Given the description of an element on the screen output the (x, y) to click on. 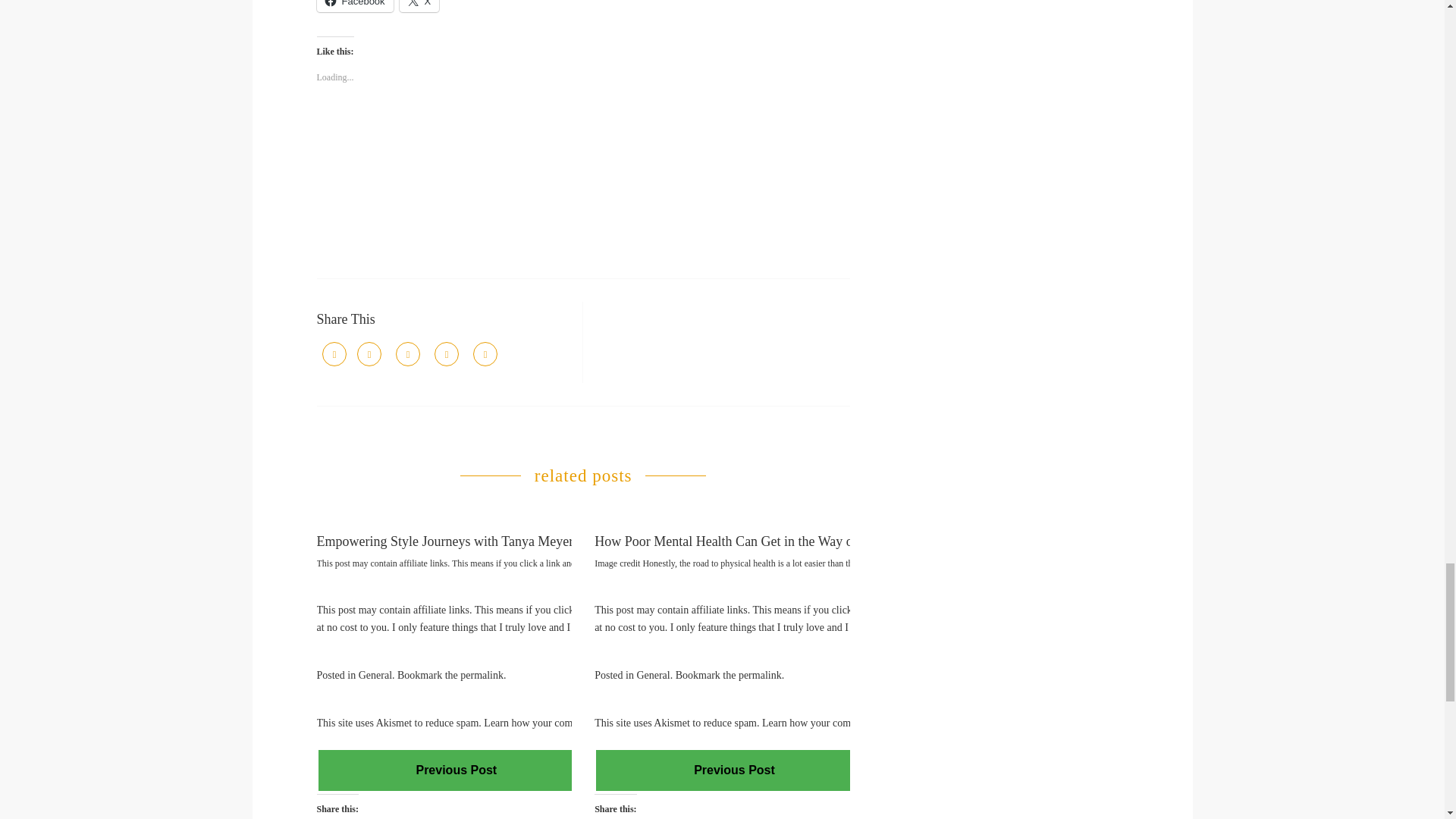
Previous Post (456, 770)
You Need To Check Out Ala von Auersperg (734, 769)
permalink (481, 674)
X (418, 6)
Click to share on X (418, 6)
Facebook (355, 6)
You Need To Check Out Ala von Auersperg (456, 769)
Advertisement (583, 181)
Click to share on Facebook (355, 6)
Empowering Style Journeys with Tanya Meyers of Mode T (478, 540)
Previous Post (456, 769)
